Given the description of an element on the screen output the (x, y) to click on. 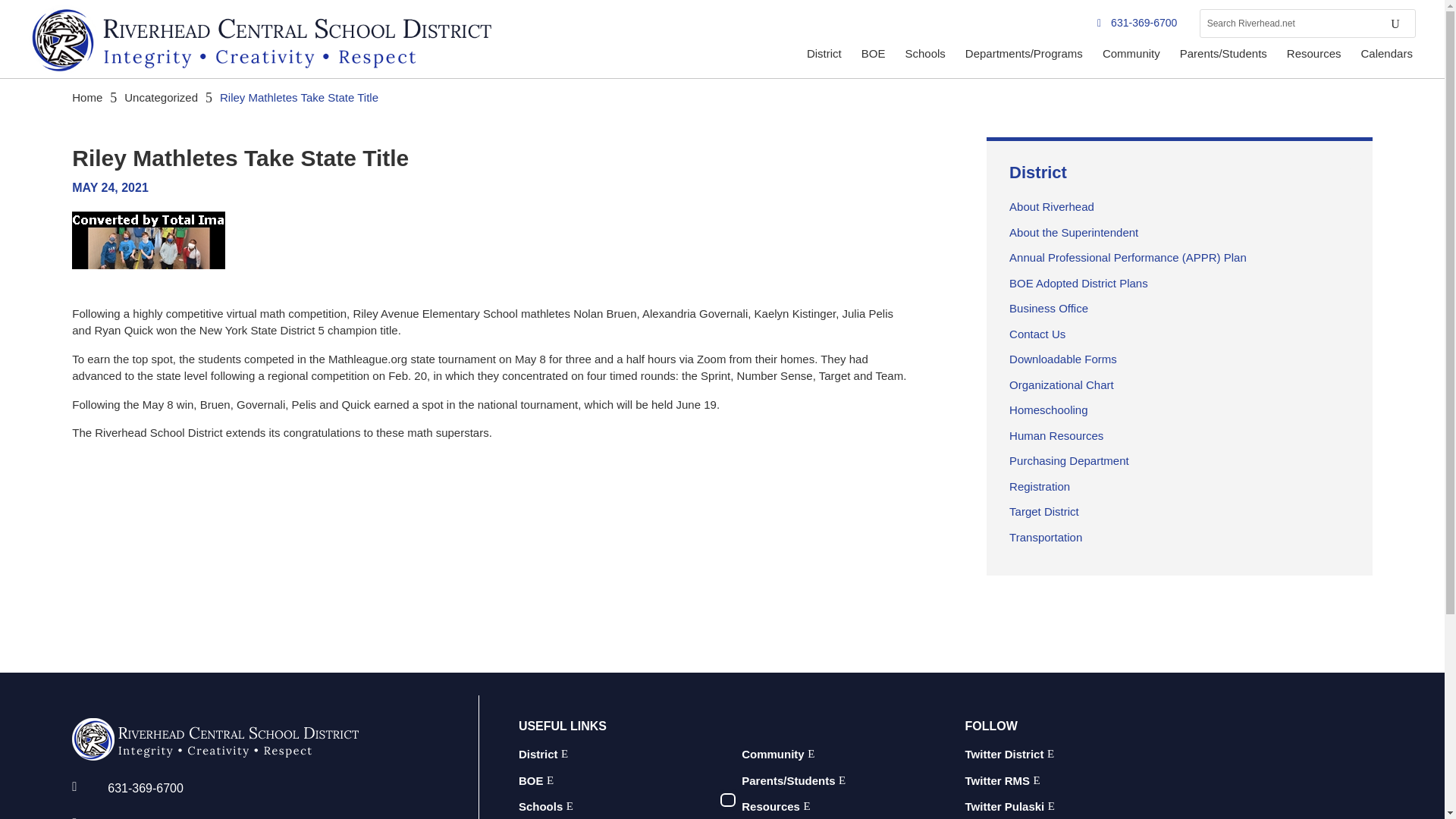
BOE (874, 56)
District (825, 56)
Accessibility Menu (727, 799)
Search (1394, 22)
Schools (925, 56)
Search (1394, 22)
Search (1394, 22)
631-369-6700 (1137, 23)
